Given the description of an element on the screen output the (x, y) to click on. 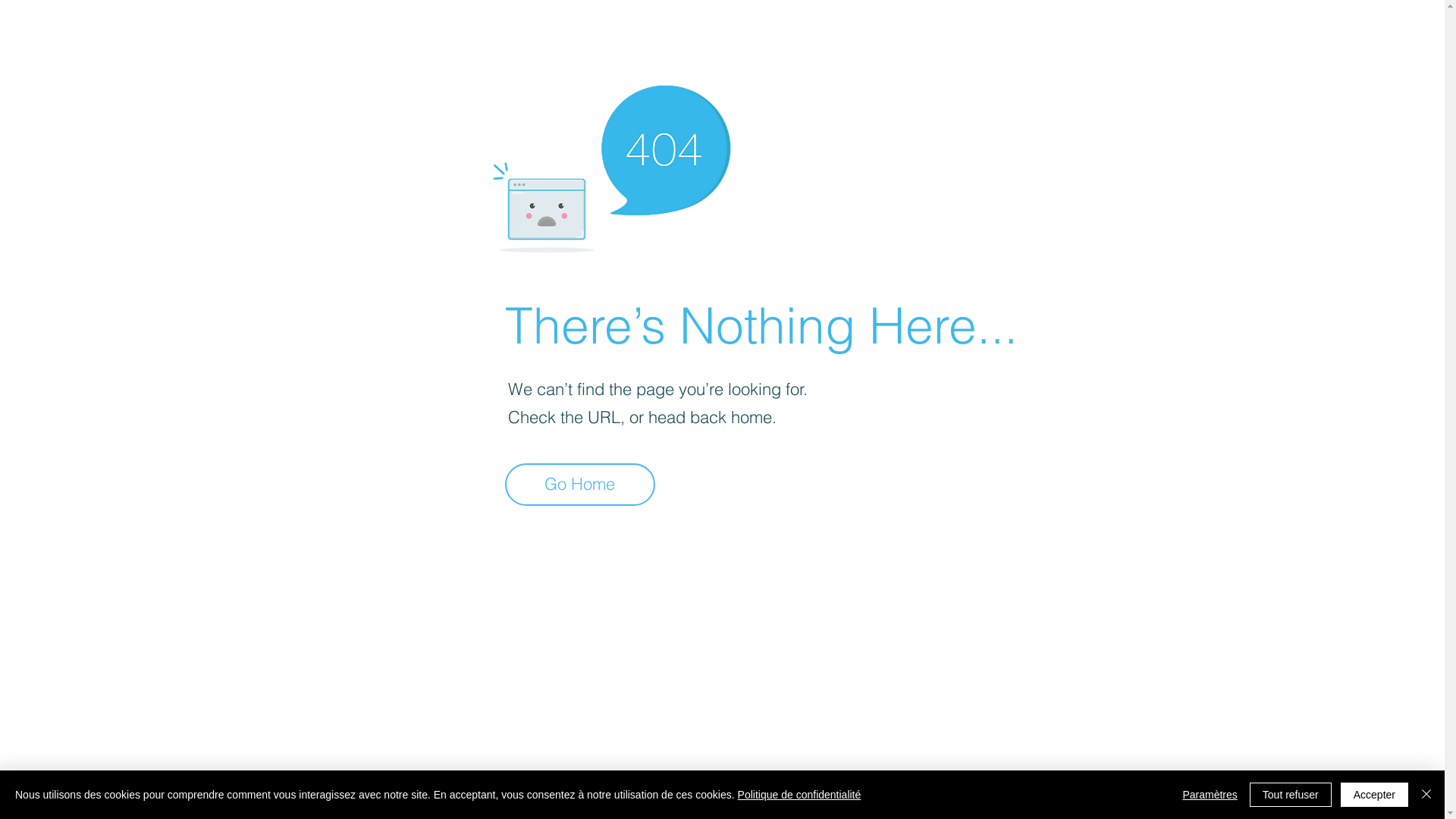
404-icon_2.png Element type: hover (610, 164)
Go Home Element type: text (580, 484)
Tout refuser Element type: text (1290, 794)
Accepter Element type: text (1374, 794)
